Given the description of an element on the screen output the (x, y) to click on. 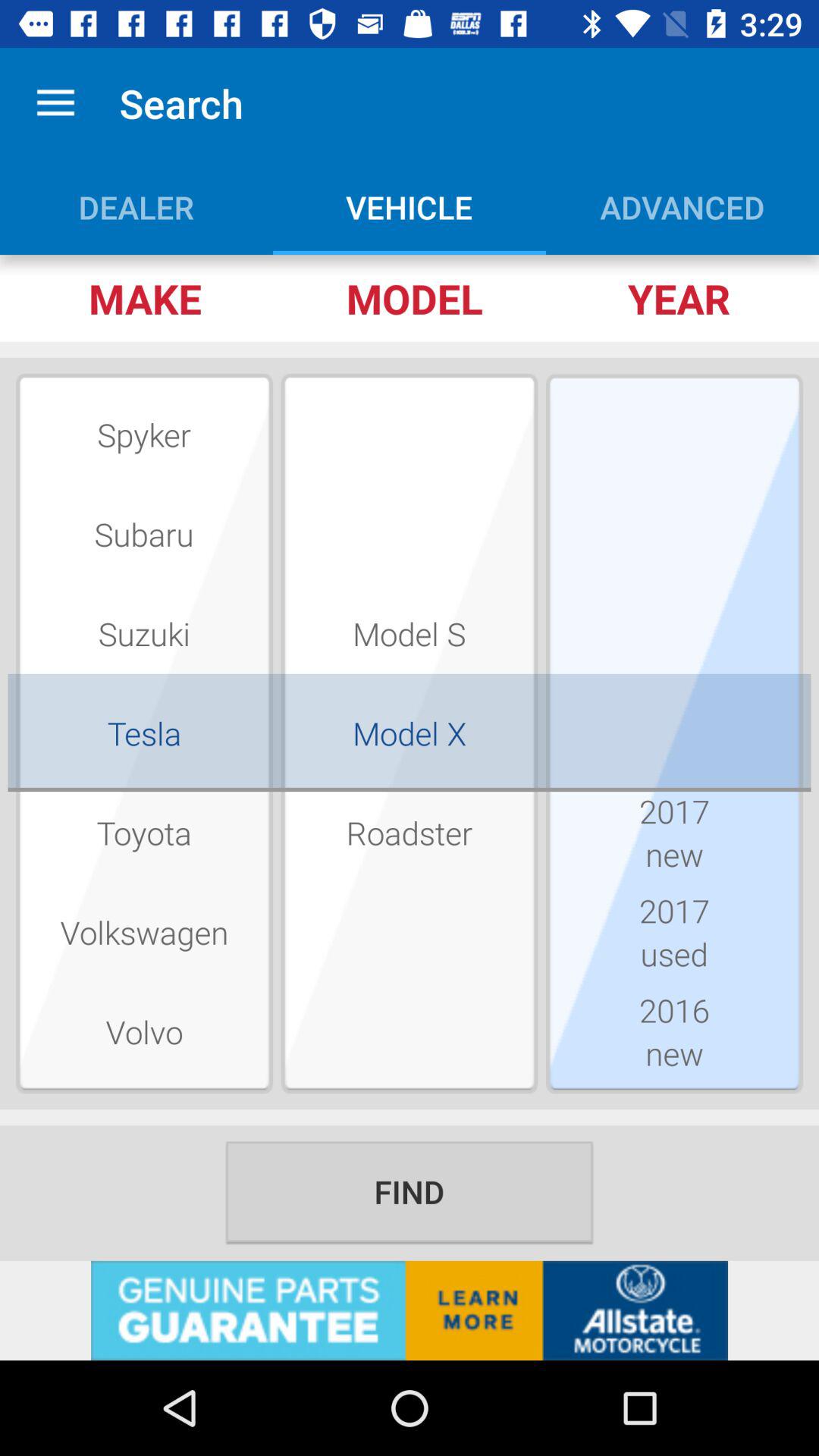
open advertisement (409, 1310)
